Given the description of an element on the screen output the (x, y) to click on. 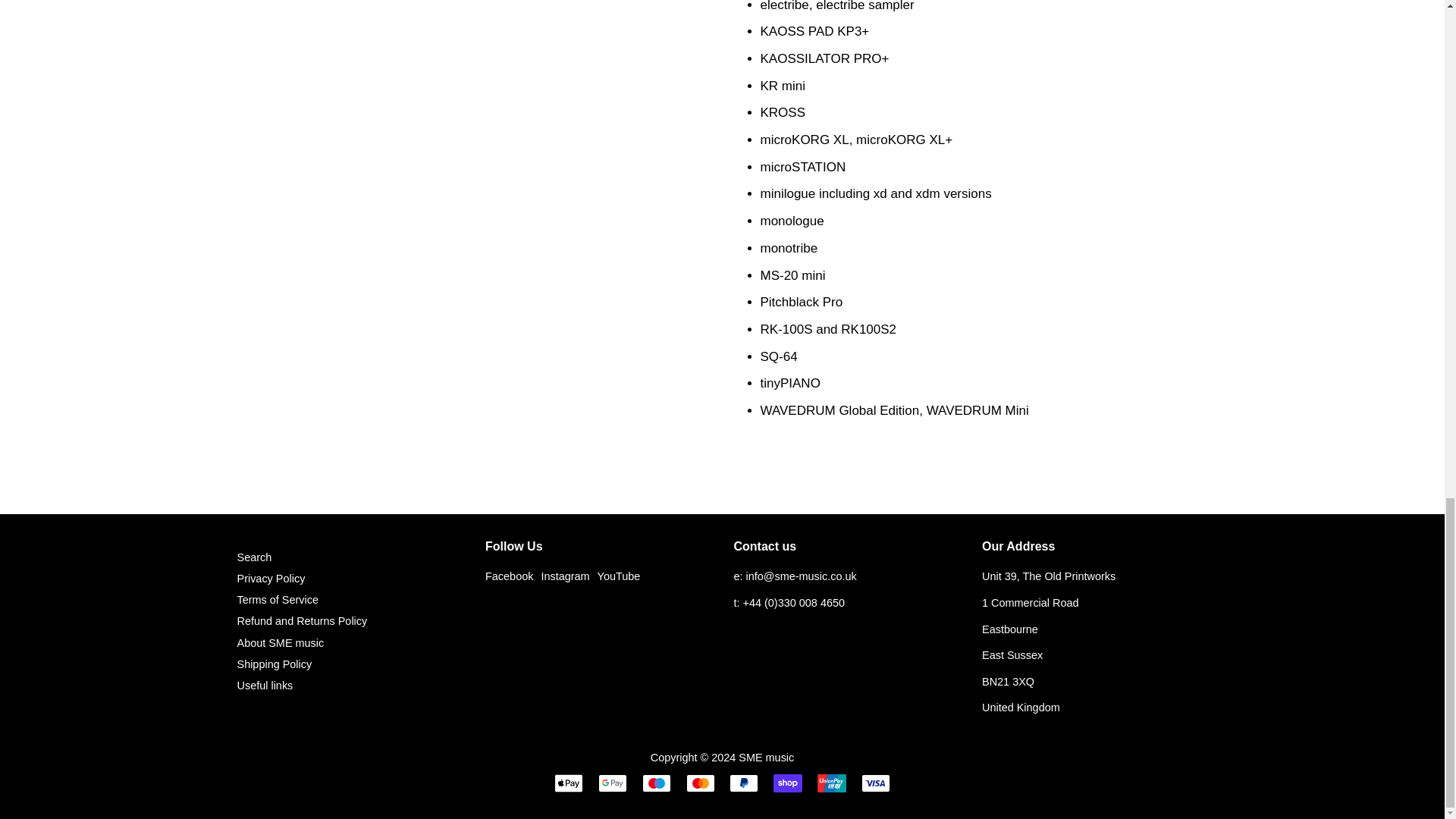
SME music (765, 757)
Search (252, 557)
Terms of Service (276, 599)
SME music on Instagram (564, 576)
Shipping Policy (273, 664)
PayPal (743, 782)
Union Pay (830, 782)
Refund and Returns Policy (300, 621)
Google Pay (612, 782)
Useful links (263, 685)
Mastercard (699, 782)
Visa (875, 782)
Facebook (508, 576)
Apple Pay (568, 782)
Instagram (564, 576)
